Given the description of an element on the screen output the (x, y) to click on. 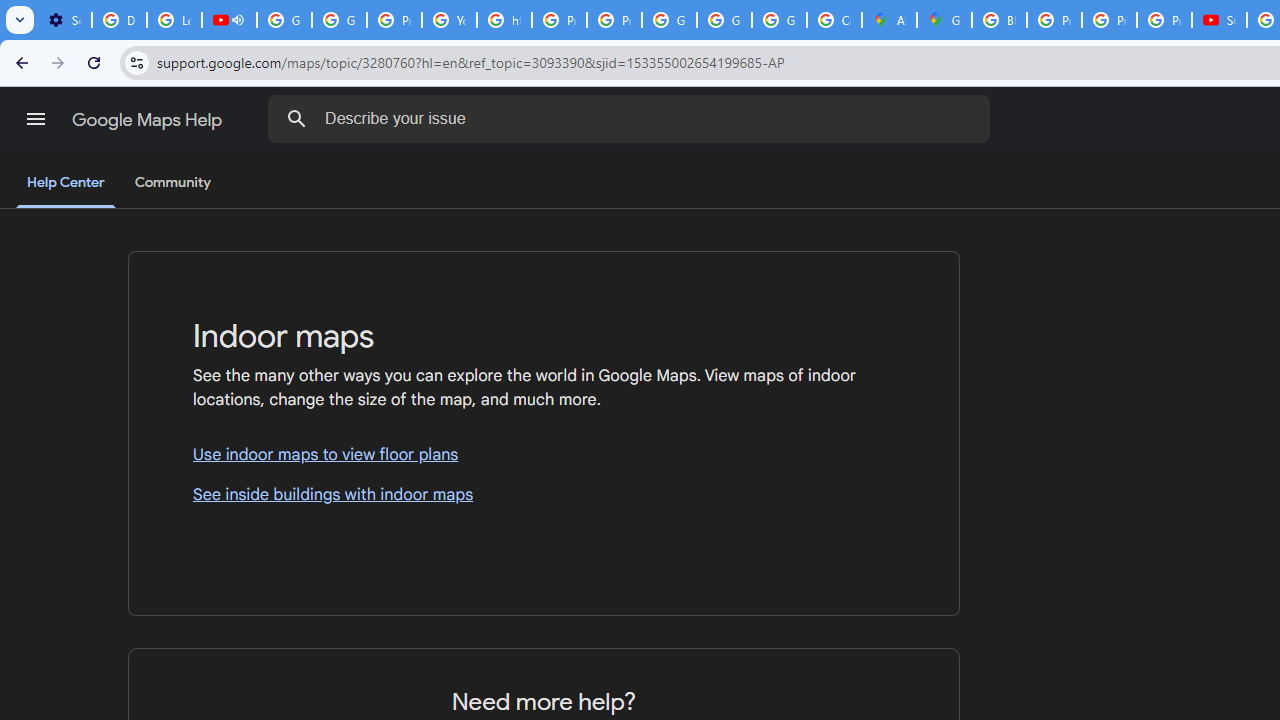
Delete photos & videos - Computer - Google Photos Help (119, 20)
Privacy Help Center - Policies Help (559, 20)
Help Center (65, 183)
Blogger Policies and Guidelines - Transparency Center (998, 20)
YouTube (449, 20)
See inside buildings with indoor maps (543, 494)
Mute tab (237, 20)
Search Help Center (297, 118)
Community (171, 183)
Describe your issue (632, 118)
